Given the description of an element on the screen output the (x, y) to click on. 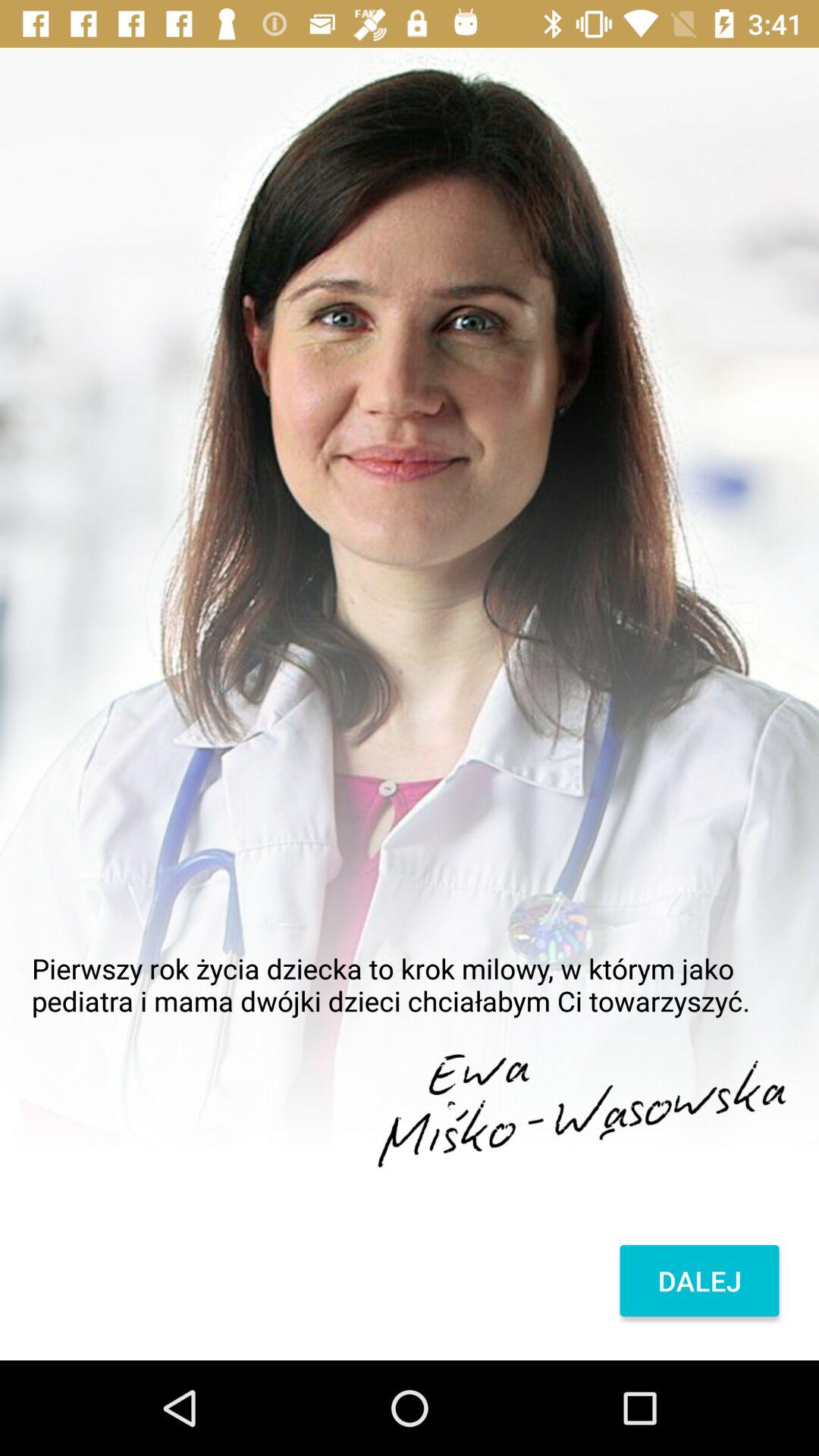
launch the dalej (699, 1280)
